Given the description of an element on the screen output the (x, y) to click on. 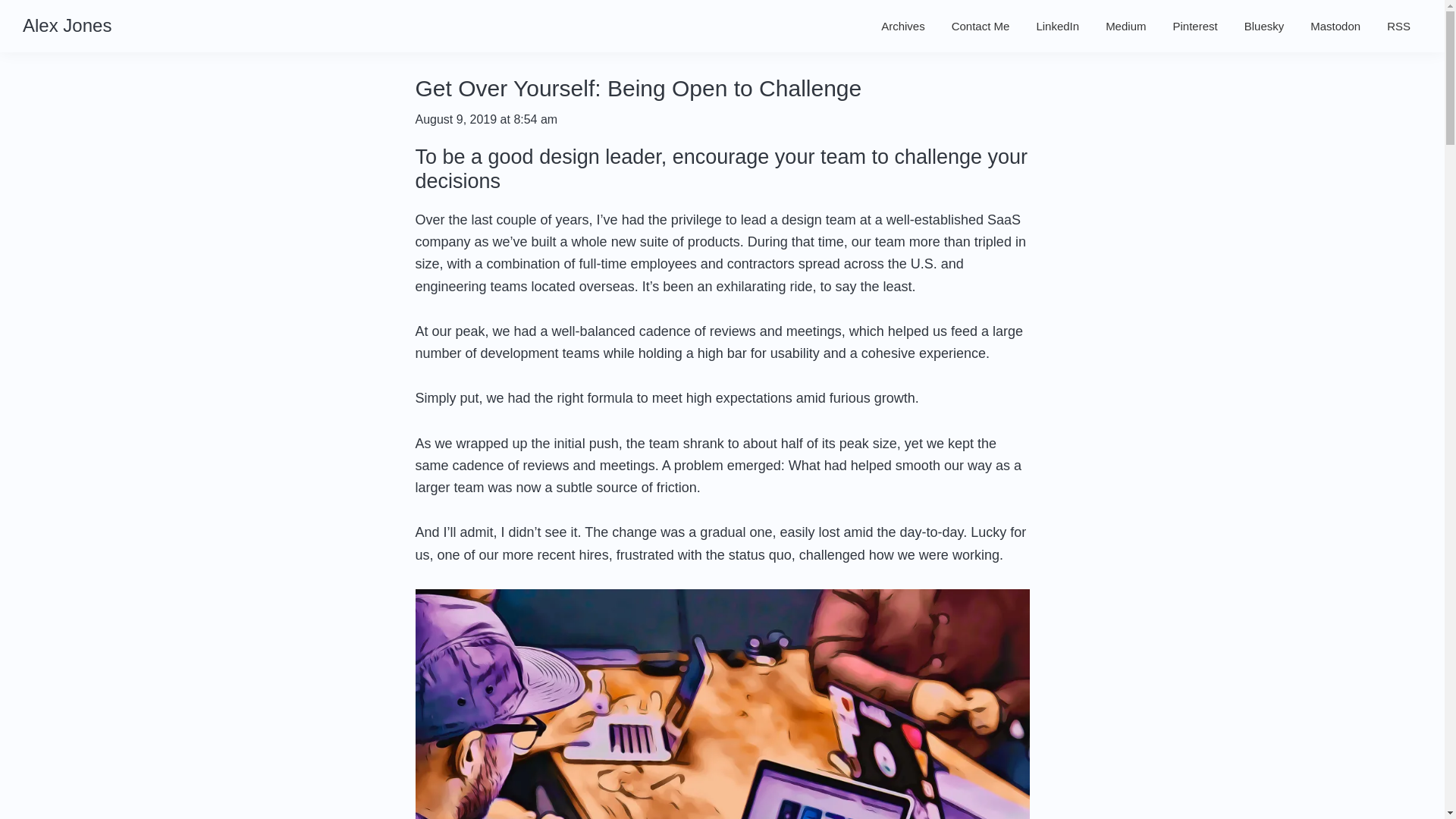
RSS (1398, 25)
Bluesky (1264, 25)
Contact Me (981, 25)
LinkedIn (1057, 25)
Connect with me on LinkedIn (1057, 25)
Alex Jones (67, 25)
Follow me on Pinterest (1194, 25)
Archives (902, 25)
Medium (1125, 25)
